Given the description of an element on the screen output the (x, y) to click on. 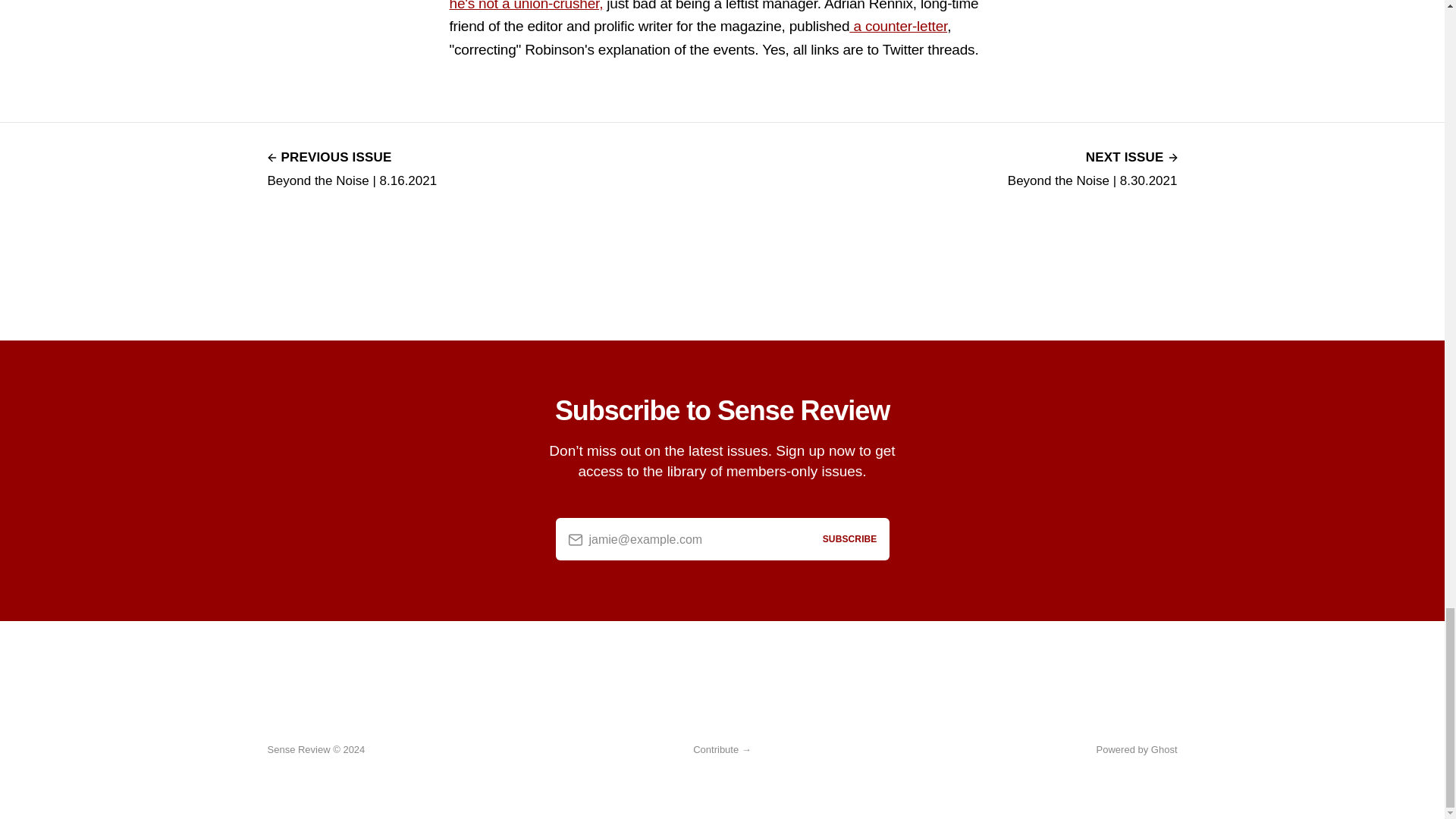
Powered by Ghost (1136, 749)
he's not a union-crusher, (525, 5)
a counter-letter (897, 26)
